Given the description of an element on the screen output the (x, y) to click on. 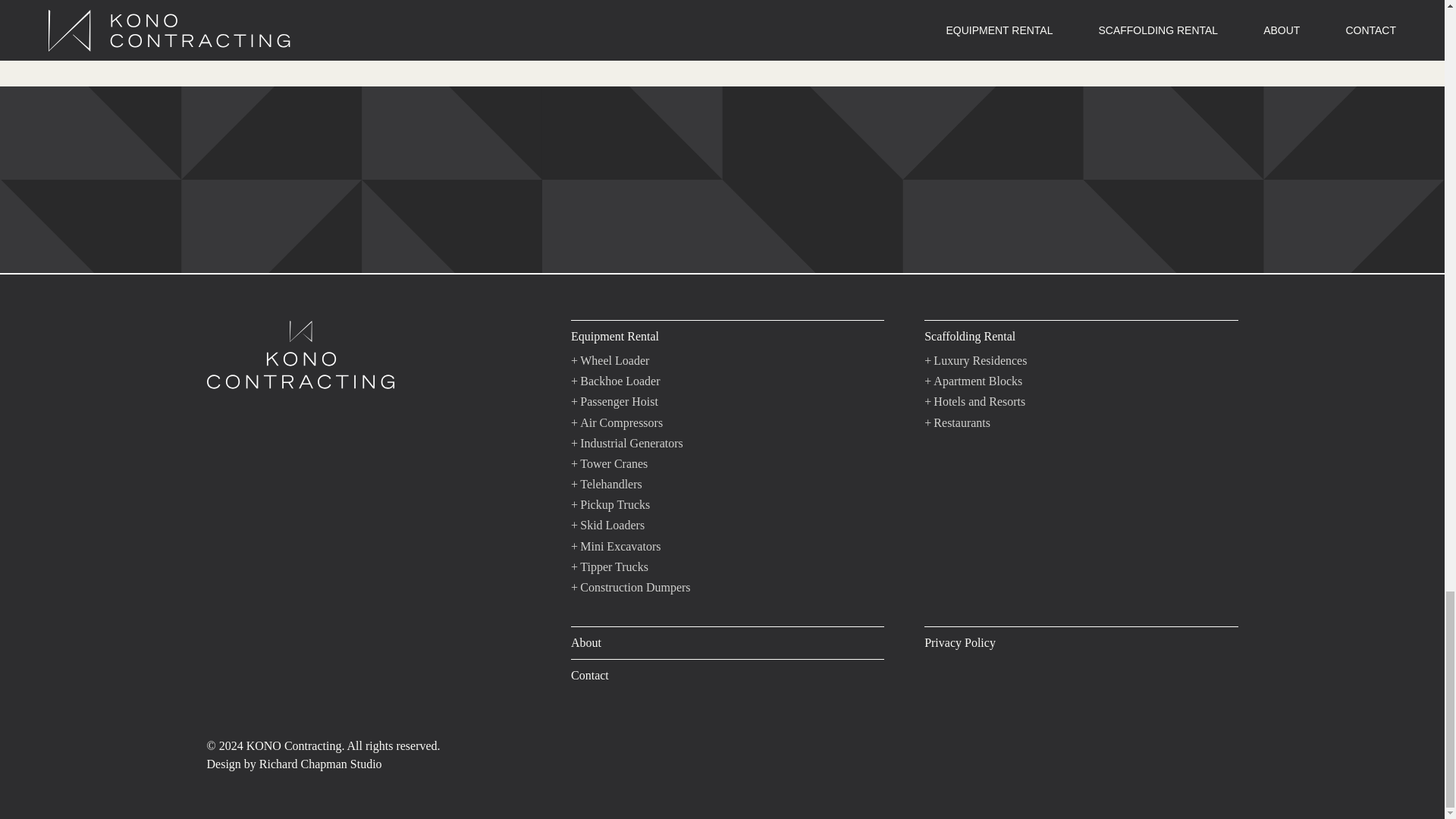
Hotels and Resorts (974, 401)
Air Compressors (616, 422)
Richard Chapman Studio (320, 763)
Construction Dumpers (630, 587)
Privacy Policy (1080, 638)
Contact (726, 671)
Equipment Rental (726, 332)
Restaurants (957, 422)
Luxury Residences (975, 360)
Passenger Hoist (614, 401)
